Given the description of an element on the screen output the (x, y) to click on. 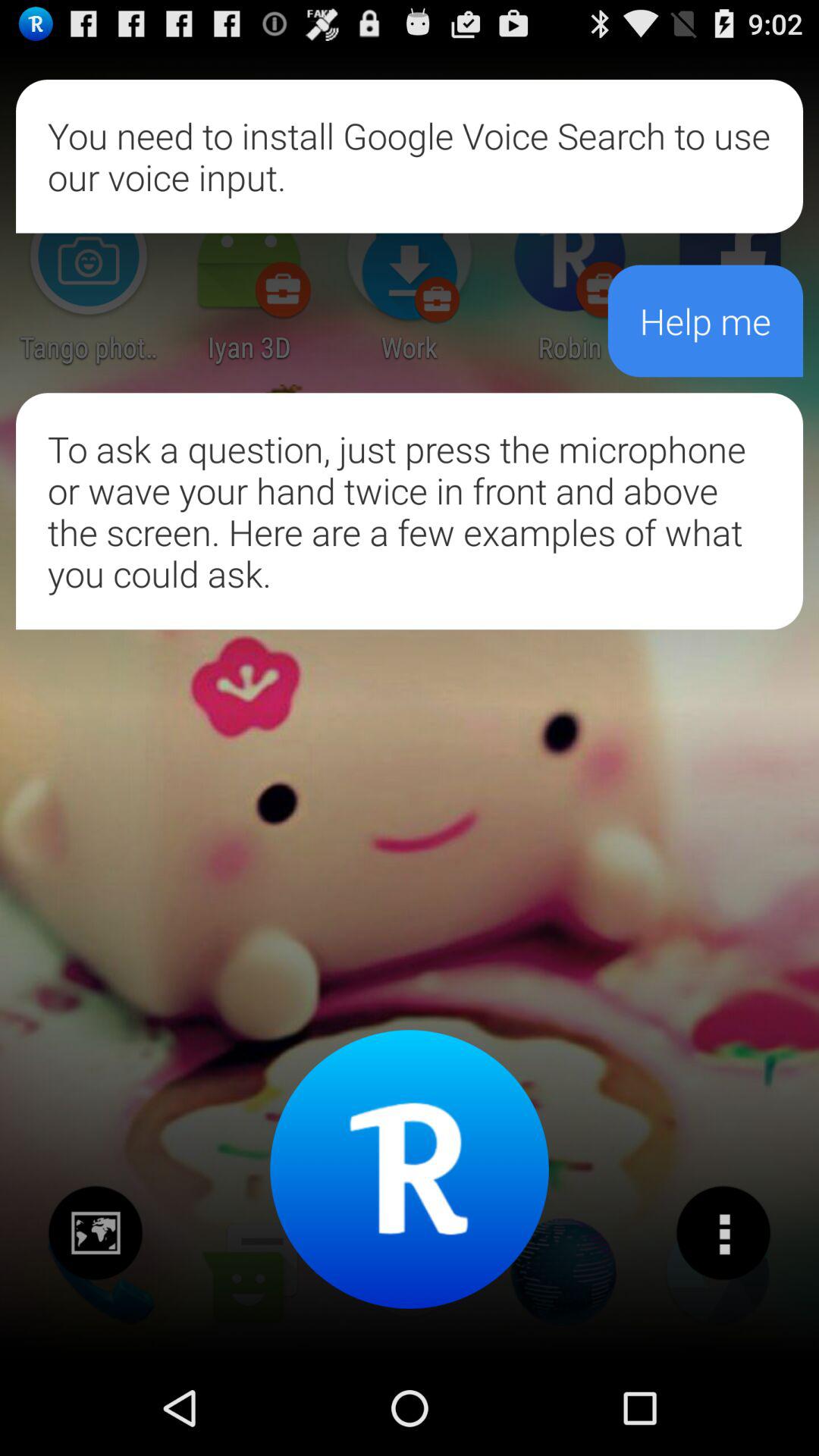
more information (723, 1232)
